Given the description of an element on the screen output the (x, y) to click on. 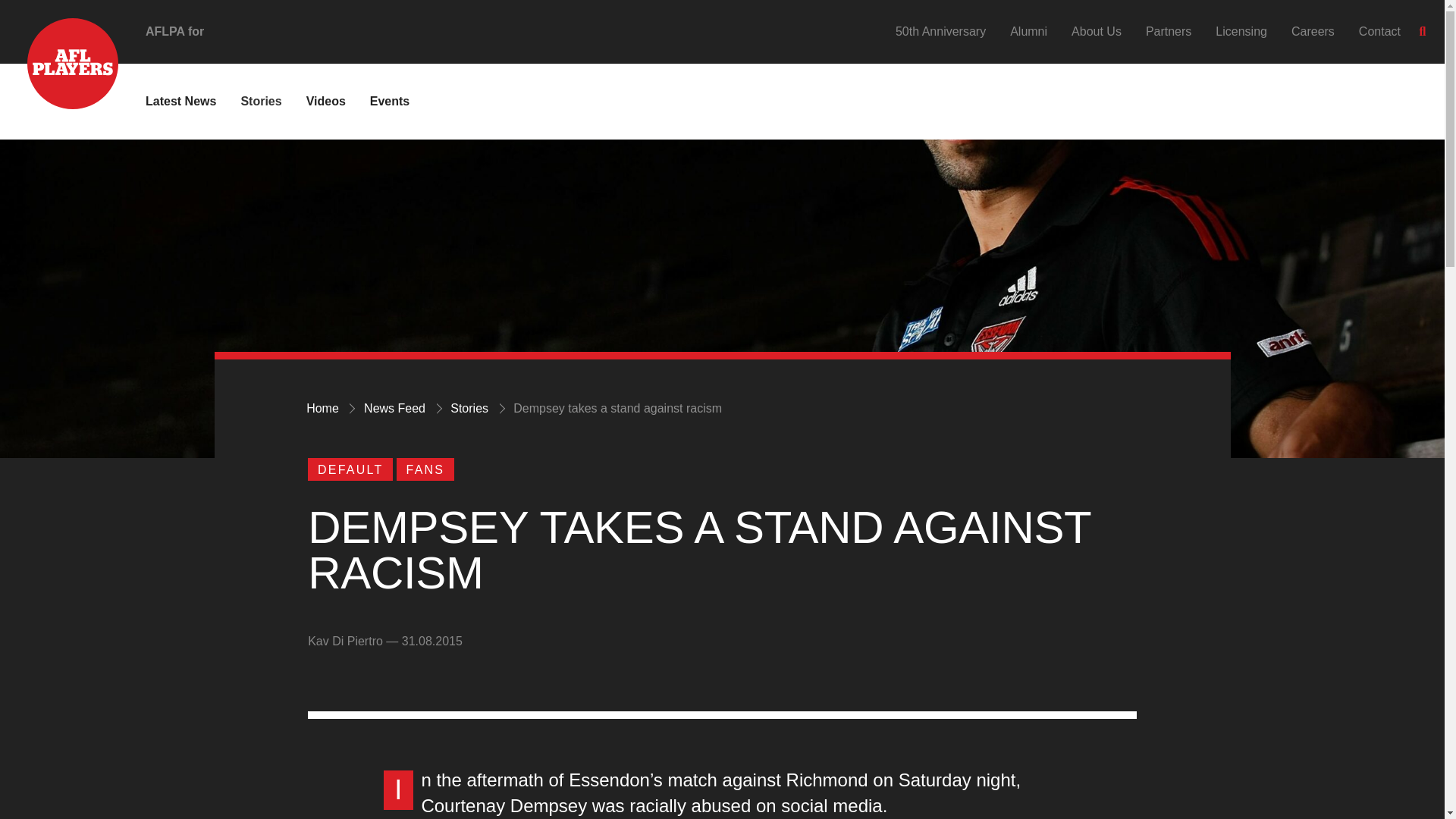
DEFAULT (350, 468)
Home (322, 408)
Contact (1379, 31)
Stories (260, 101)
Licensing (1240, 31)
Videos (325, 101)
50th Anniversary (940, 31)
Stories (468, 408)
News Feed (394, 408)
Events (389, 101)
Partners (1168, 31)
About Us (1096, 31)
AFL Players' Association Limited (58, 40)
Alumni (1028, 31)
FANS (425, 468)
